Given the description of an element on the screen output the (x, y) to click on. 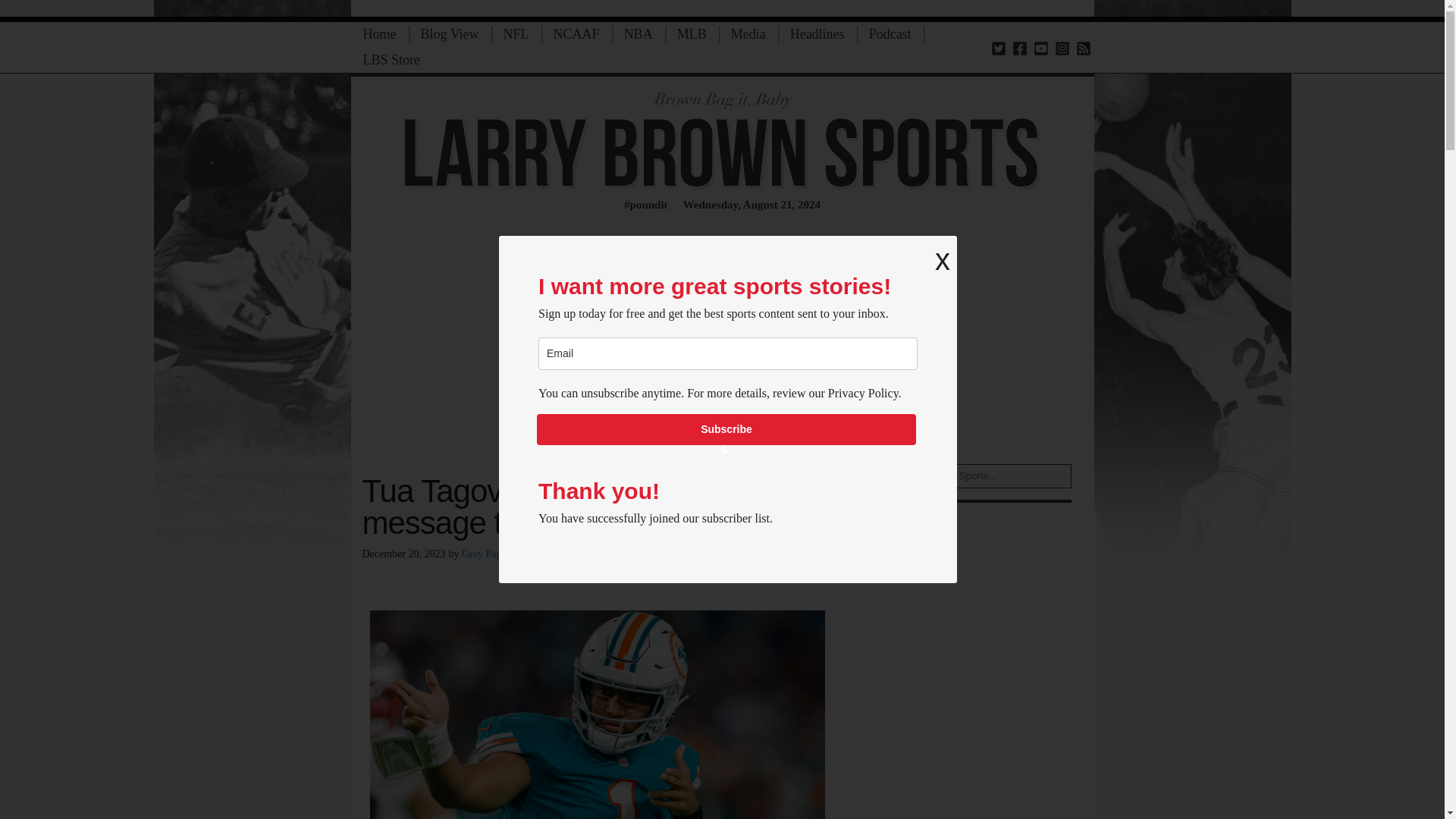
NBA (638, 34)
NCAAF (576, 34)
Privacy Policy (863, 392)
MLB (692, 34)
Headlines (817, 34)
Media (748, 34)
Podcast (890, 34)
Blog View (448, 34)
View Larry Brown Sports Twitter (998, 47)
Home (378, 34)
